Given the description of an element on the screen output the (x, y) to click on. 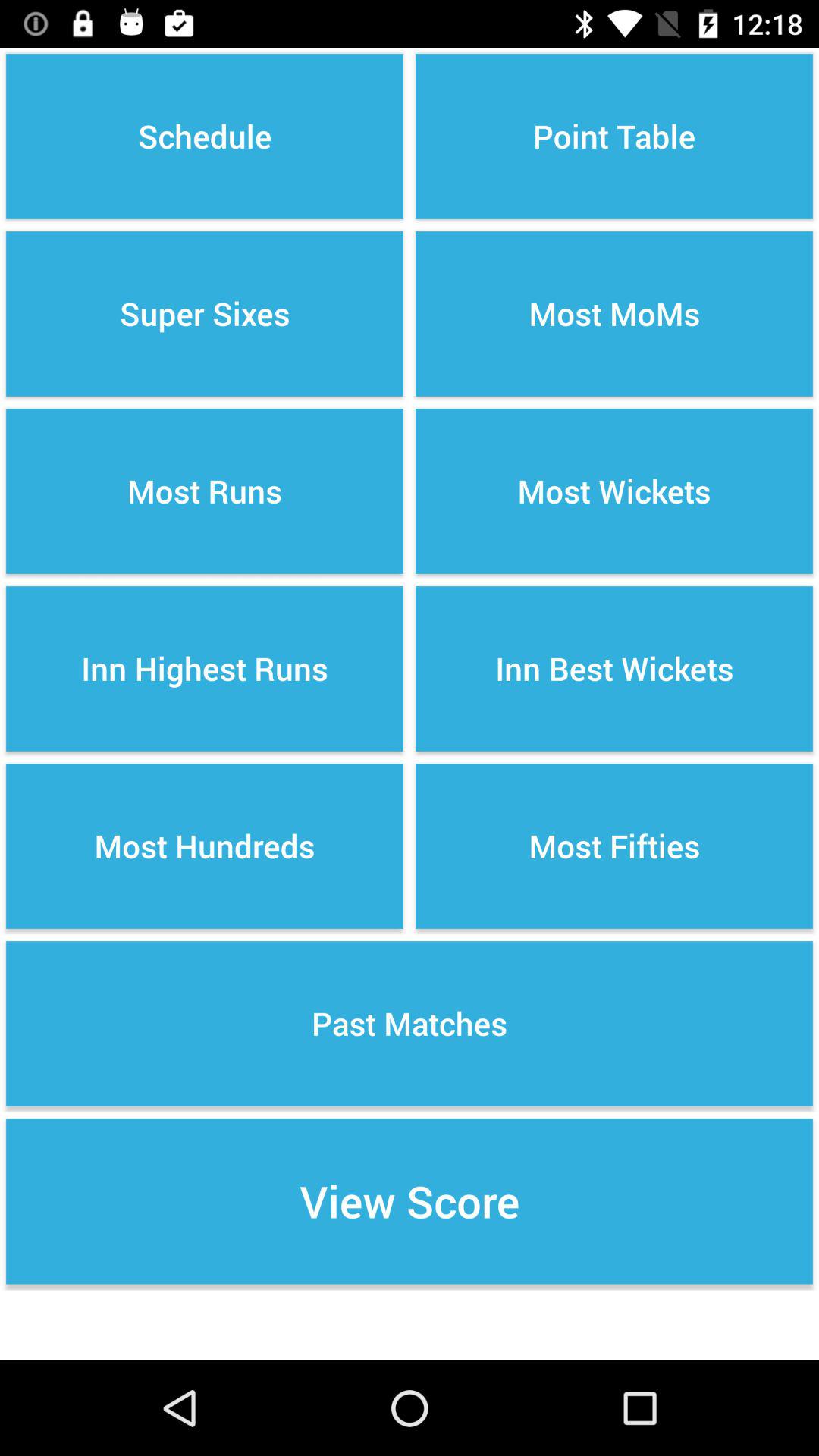
press the item below point table (613, 313)
